Given the description of an element on the screen output the (x, y) to click on. 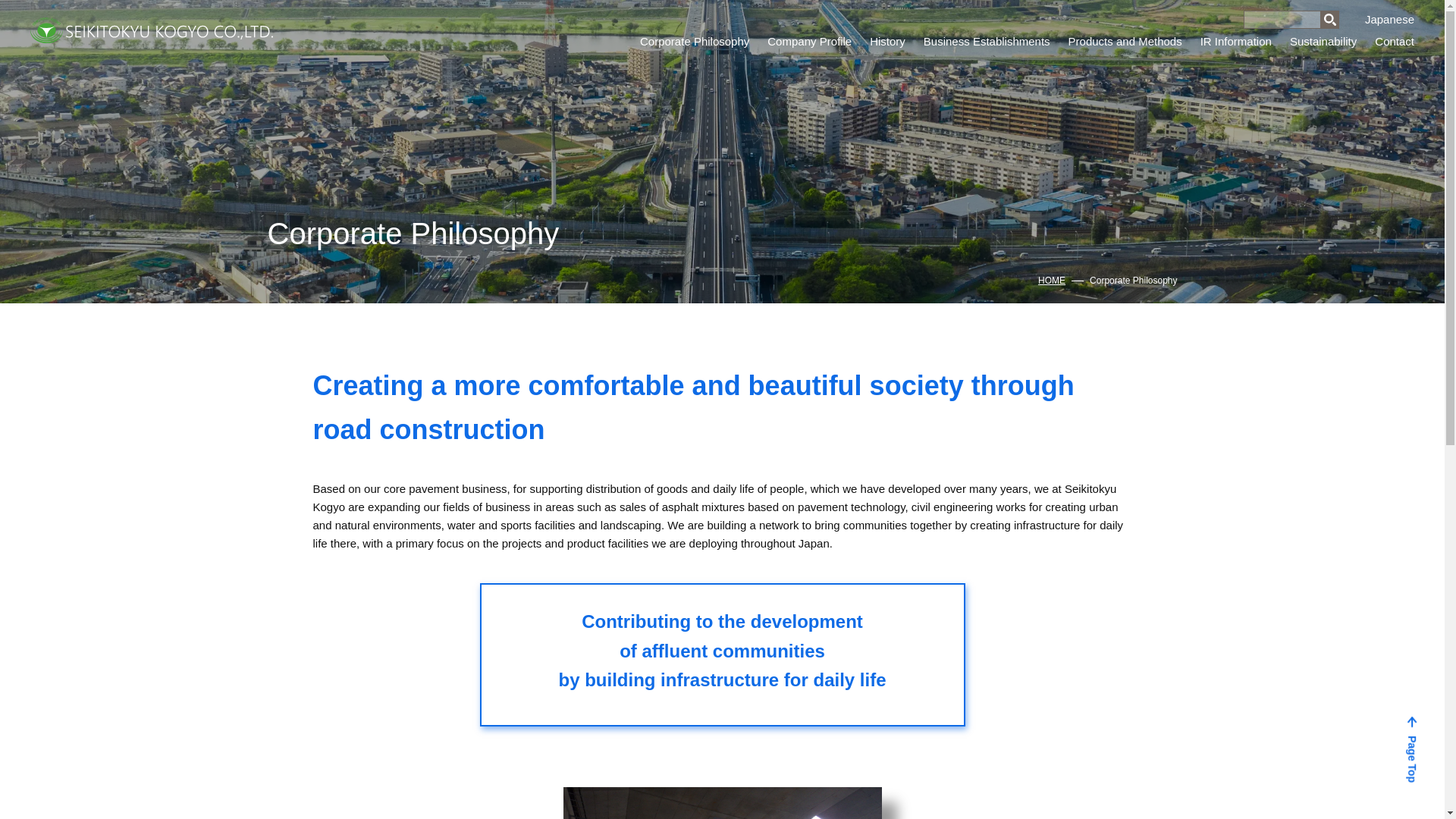
Contact (1393, 40)
Corporate Philosophy (694, 40)
IR Information (1235, 40)
History (887, 40)
Company Profile (809, 40)
Sustainability (1323, 40)
Business Establishments (986, 40)
Japanese (1389, 18)
HOME (1051, 280)
Products and Methods (1125, 40)
